Given the description of an element on the screen output the (x, y) to click on. 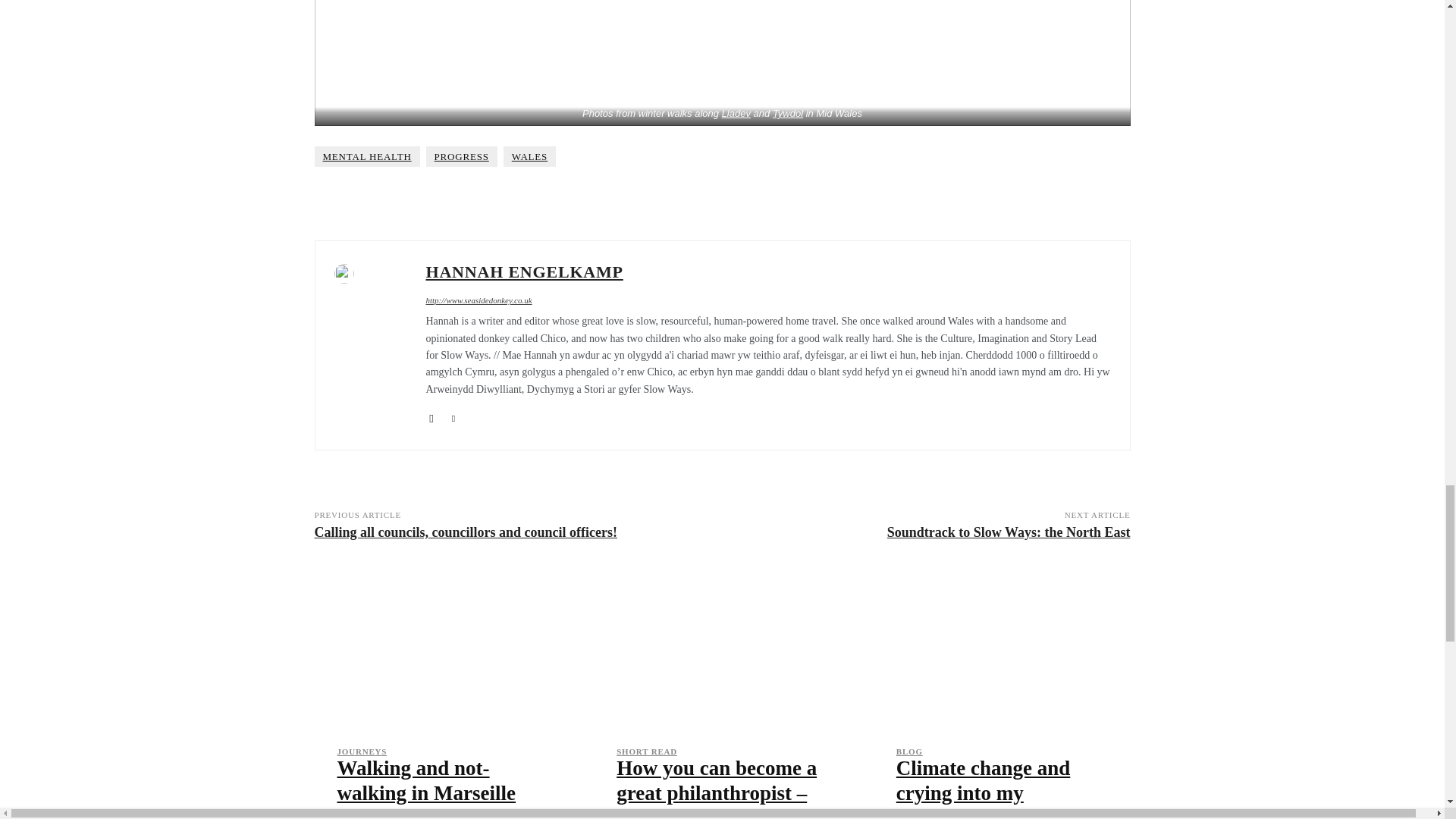
twitter (452, 414)
Walking and not-walking in Marseille (425, 779)
Climate change and crying into my cornflakes (983, 787)
Climate change and crying into my cornflakes (1002, 647)
Walking and not-walking in Marseille (442, 647)
instagram (432, 414)
